Given the description of an element on the screen output the (x, y) to click on. 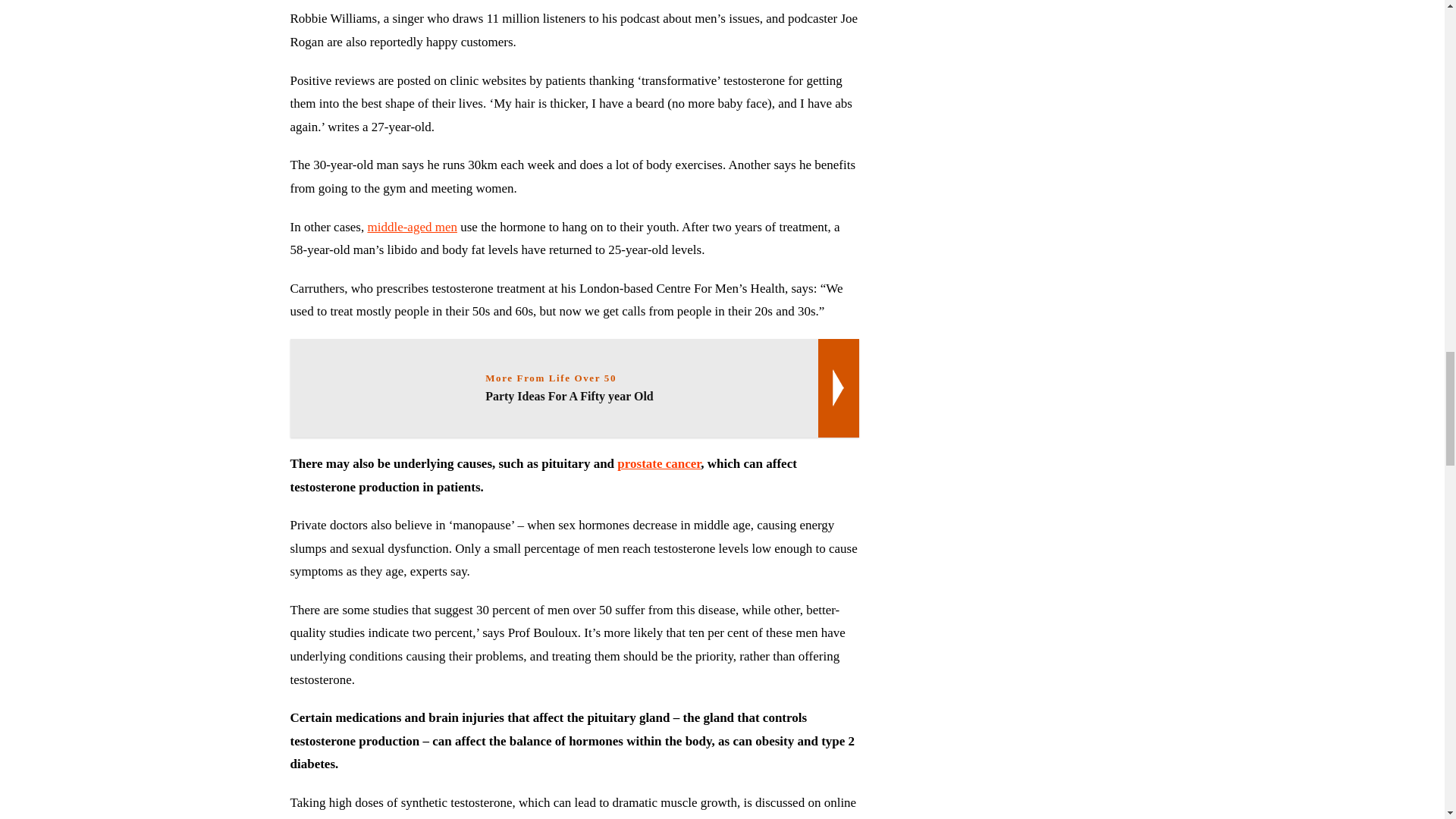
middle-aged men (411, 227)
middle-aged men (574, 388)
prostate cancer (411, 227)
